Given the description of an element on the screen output the (x, y) to click on. 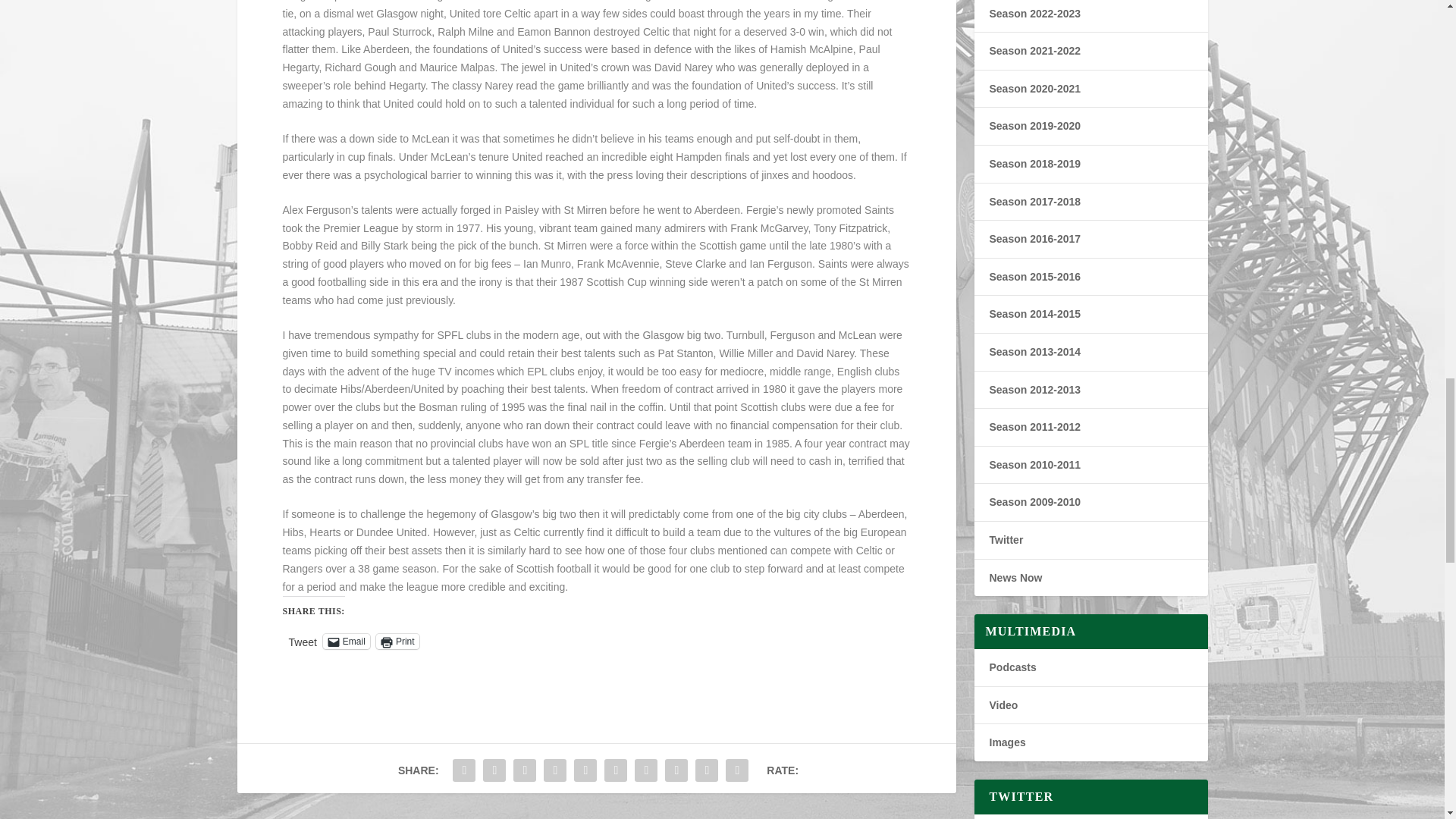
Share "LEADERS OF THE OPPOSITION" via Email (706, 770)
Share "LEADERS OF THE OPPOSITION" via LinkedIn (614, 770)
Share "LEADERS OF THE OPPOSITION" via Buffer (645, 770)
Share "LEADERS OF THE OPPOSITION" via Tumblr (555, 770)
Share "LEADERS OF THE OPPOSITION" via Print (737, 770)
Share "LEADERS OF THE OPPOSITION" via Facebook (463, 770)
Share "LEADERS OF THE OPPOSITION" via Stumbleupon (676, 770)
Click to print (397, 641)
Share "LEADERS OF THE OPPOSITION" via Twitter (494, 770)
Share "LEADERS OF THE OPPOSITION" via Pinterest (584, 770)
Click to email a link to a friend (346, 641)
